Given the description of an element on the screen output the (x, y) to click on. 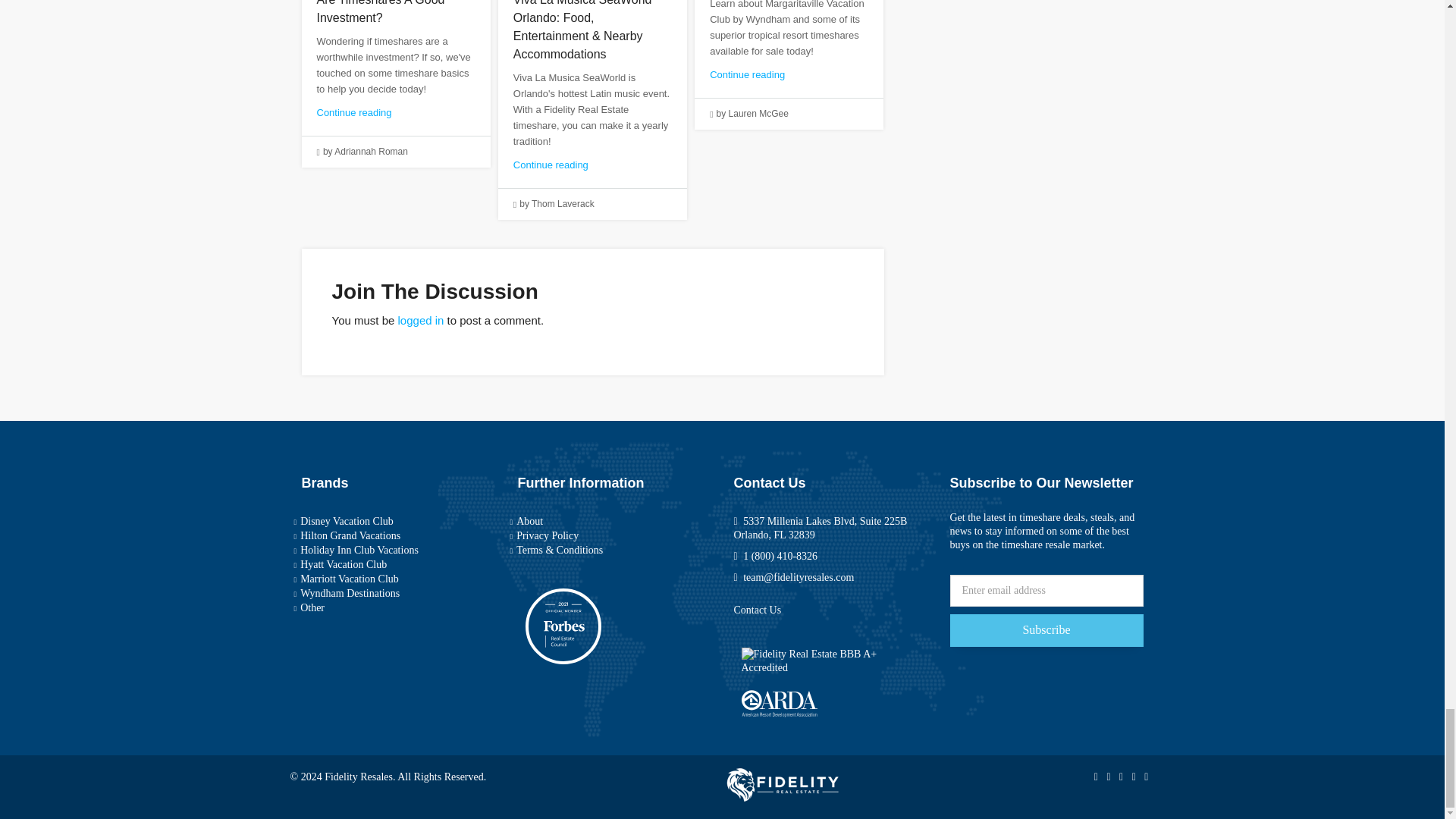
2021 Official Member Forbes Real Estate Council (561, 626)
Subscribe (1045, 630)
